Given the description of an element on the screen output the (x, y) to click on. 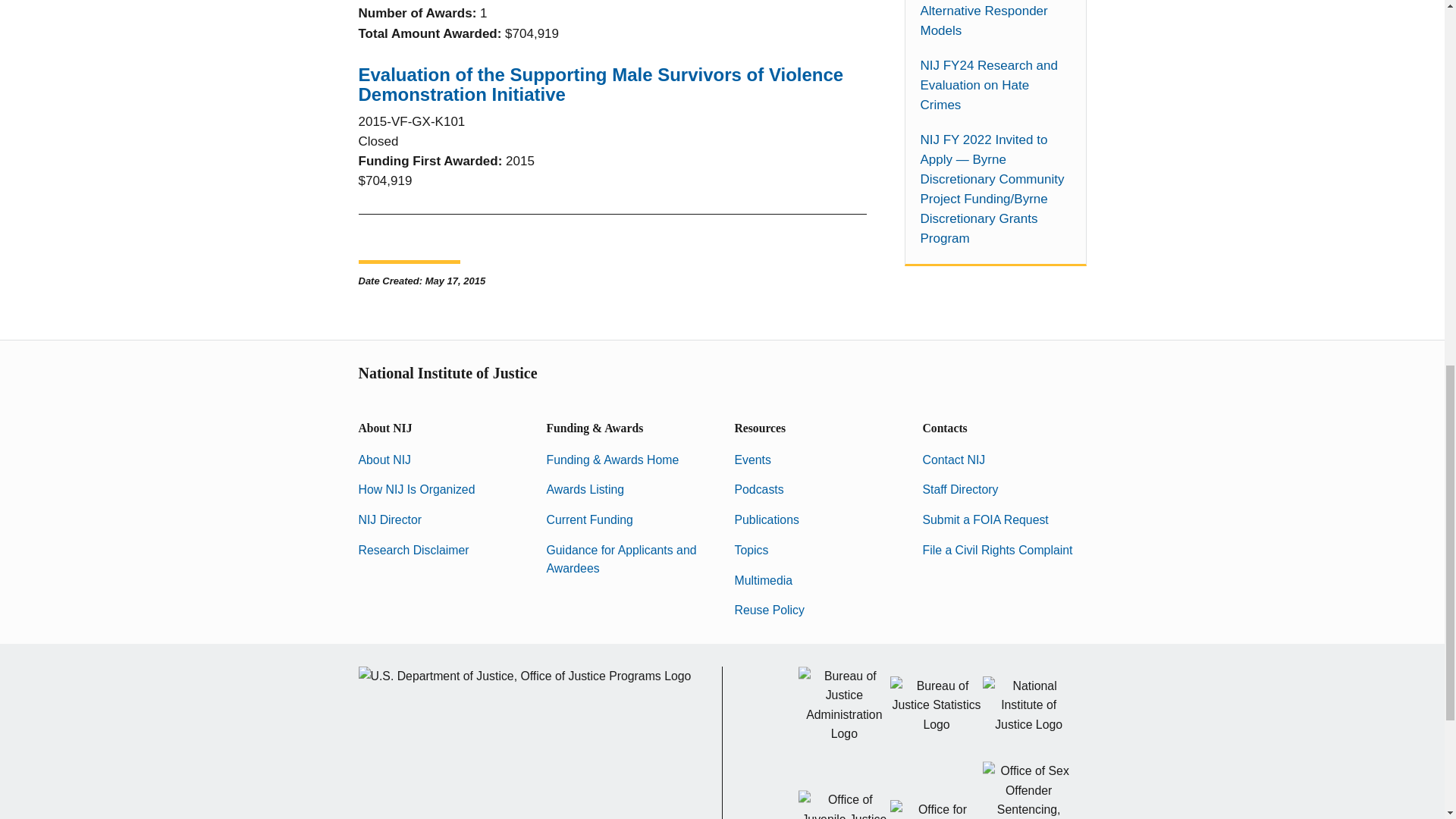
About NIJ (384, 459)
NIJ FY24 Research and Evaluation on Hate Crimes (995, 85)
NIJ FY24 Research and Evaluation on Hate Crimes (995, 85)
